Given the description of an element on the screen output the (x, y) to click on. 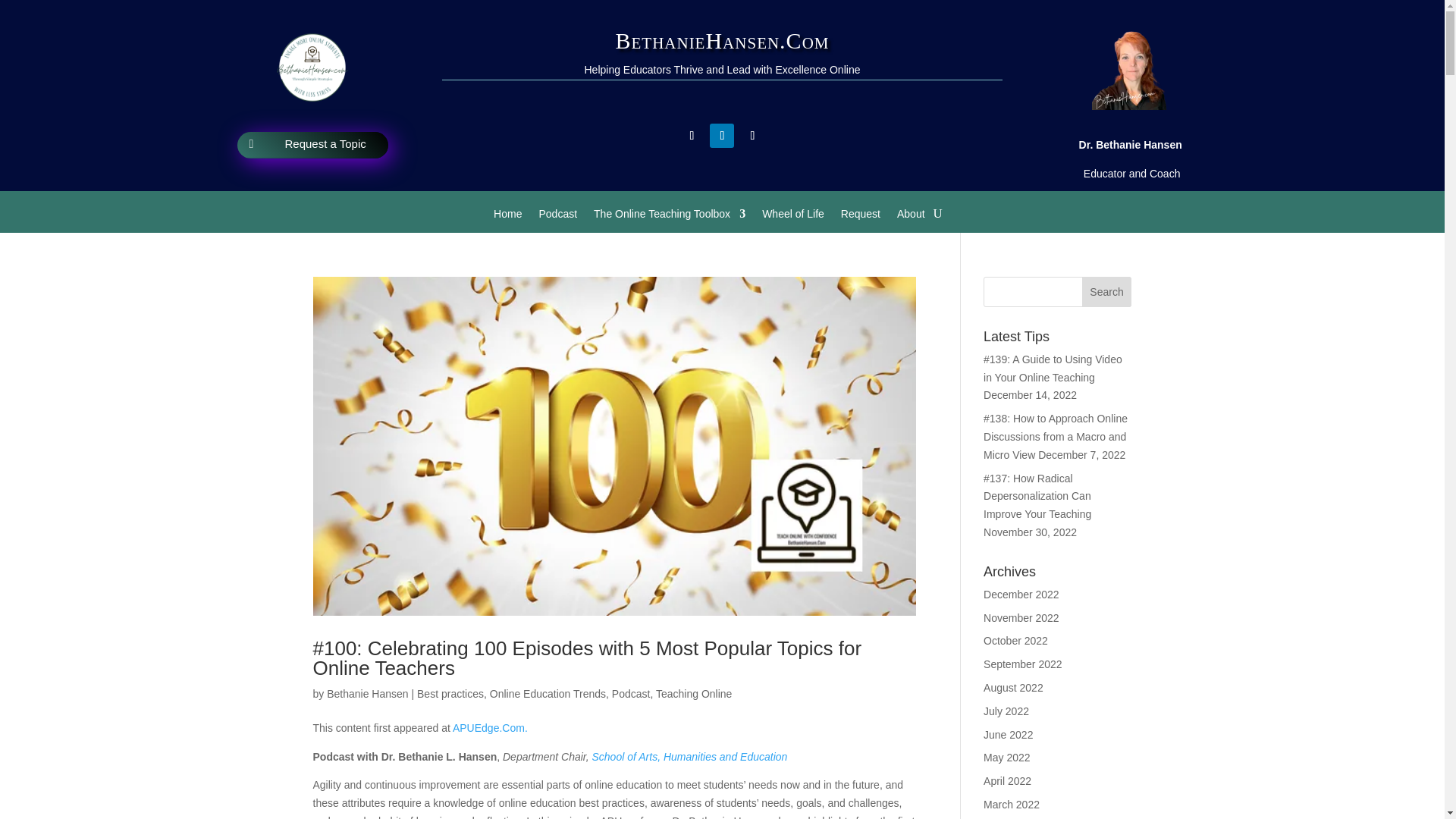
Online Education Trends (547, 693)
Search (1106, 291)
Request (860, 216)
Follow on Facebook (691, 135)
Follow on LinkedIn (721, 135)
Teaching Online (694, 693)
Wheel of Life (792, 216)
Podcast (557, 216)
Home (507, 216)
Posts by Bethanie Hansen (366, 693)
The Online Teaching Toolbox (669, 216)
Best practices (449, 693)
Follow on Twitter (751, 135)
School of Arts, Humanities and Education (689, 756)
About (910, 216)
